Given the description of an element on the screen output the (x, y) to click on. 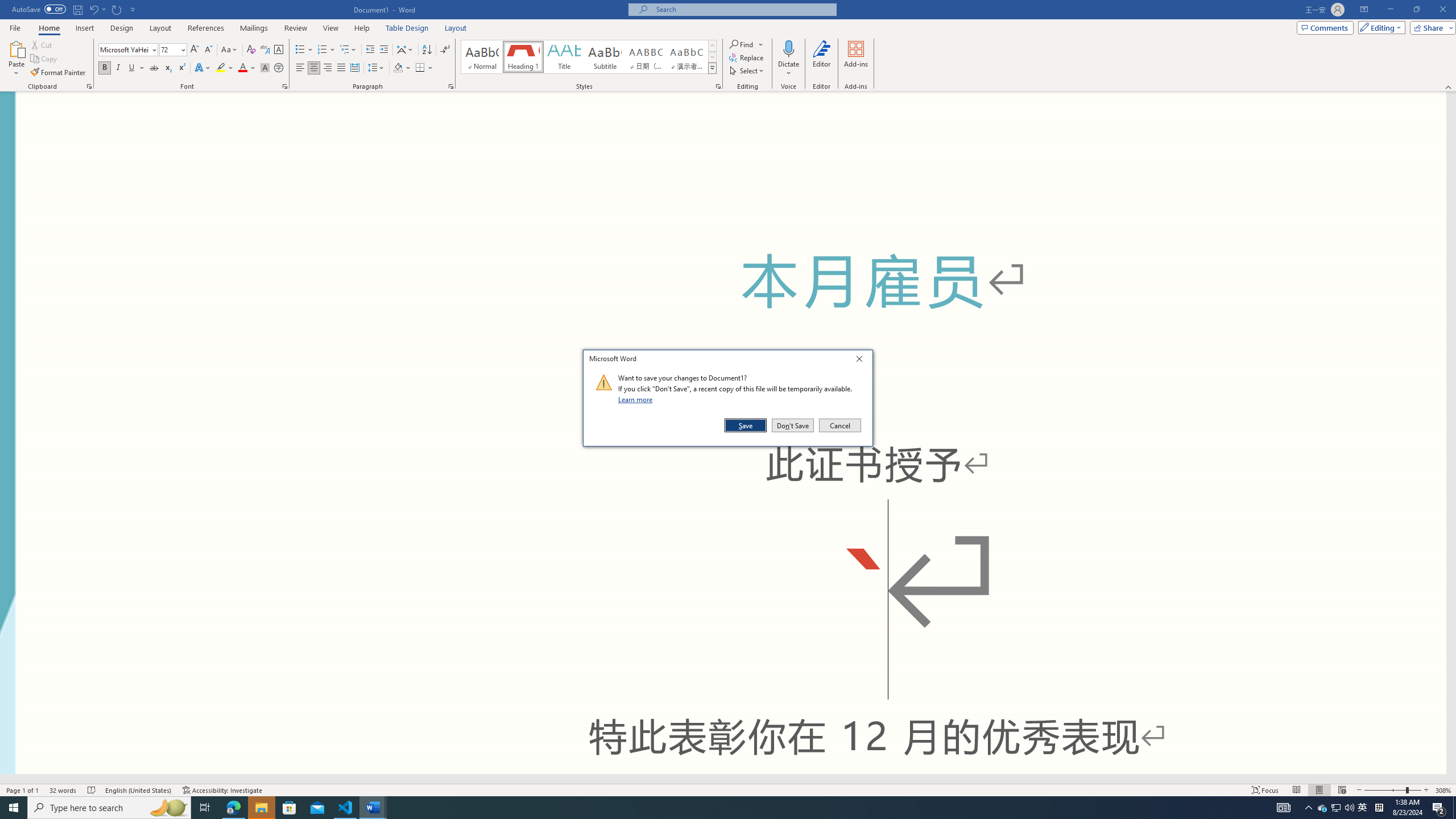
Line and Paragraph Spacing (376, 67)
Font... (285, 85)
Character Border (278, 49)
Shading (402, 67)
Title (564, 56)
Row up (711, 45)
Justify (340, 67)
Phonetic Guide... (264, 49)
Microsoft Edge - 1 running window (233, 807)
Microsoft Store (289, 807)
Tray Input Indicator - Chinese (Simplified, China) (1378, 807)
